Given the description of an element on the screen output the (x, y) to click on. 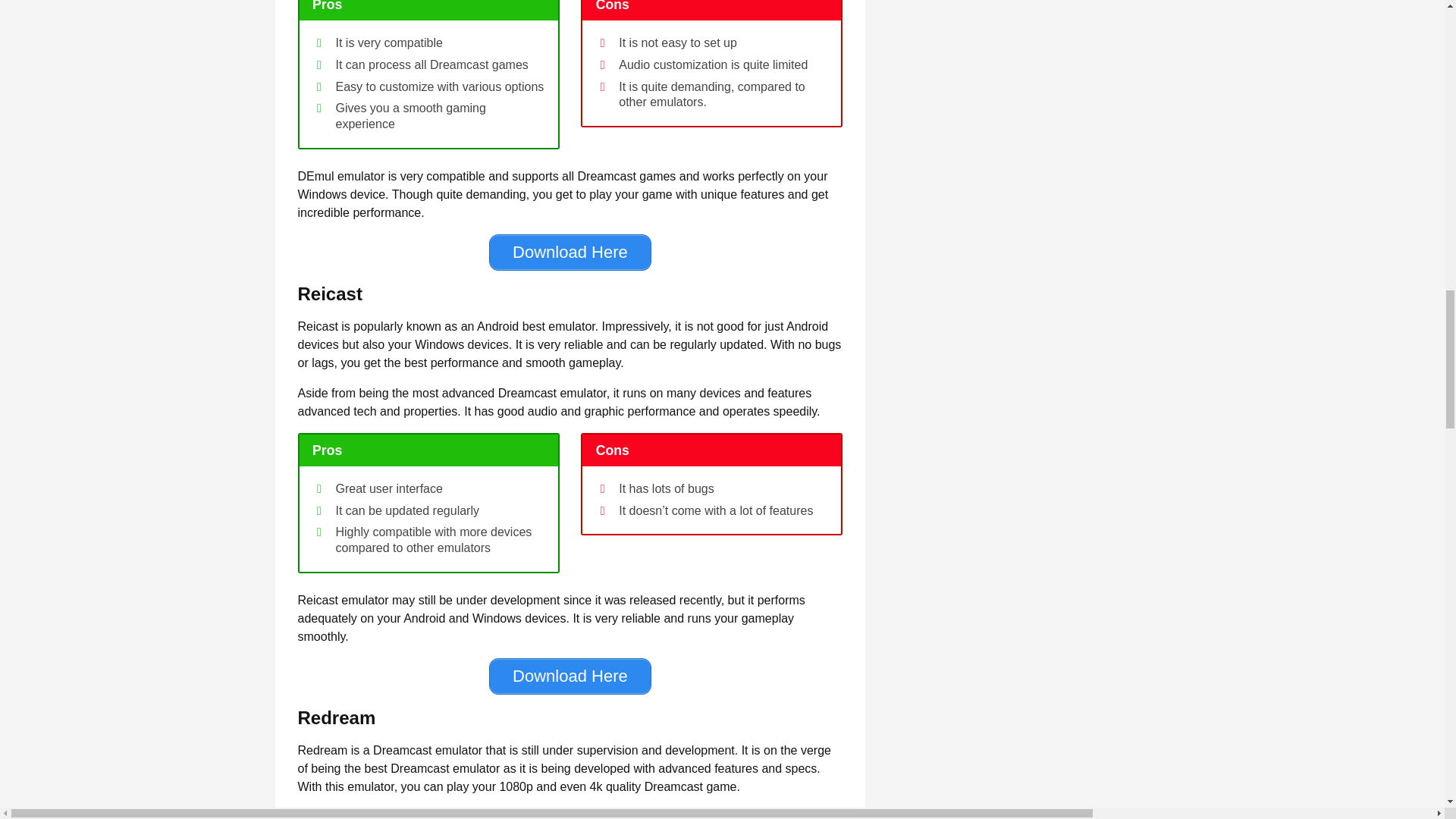
Download Here (569, 676)
Download Here (569, 252)
